Given the description of an element on the screen output the (x, y) to click on. 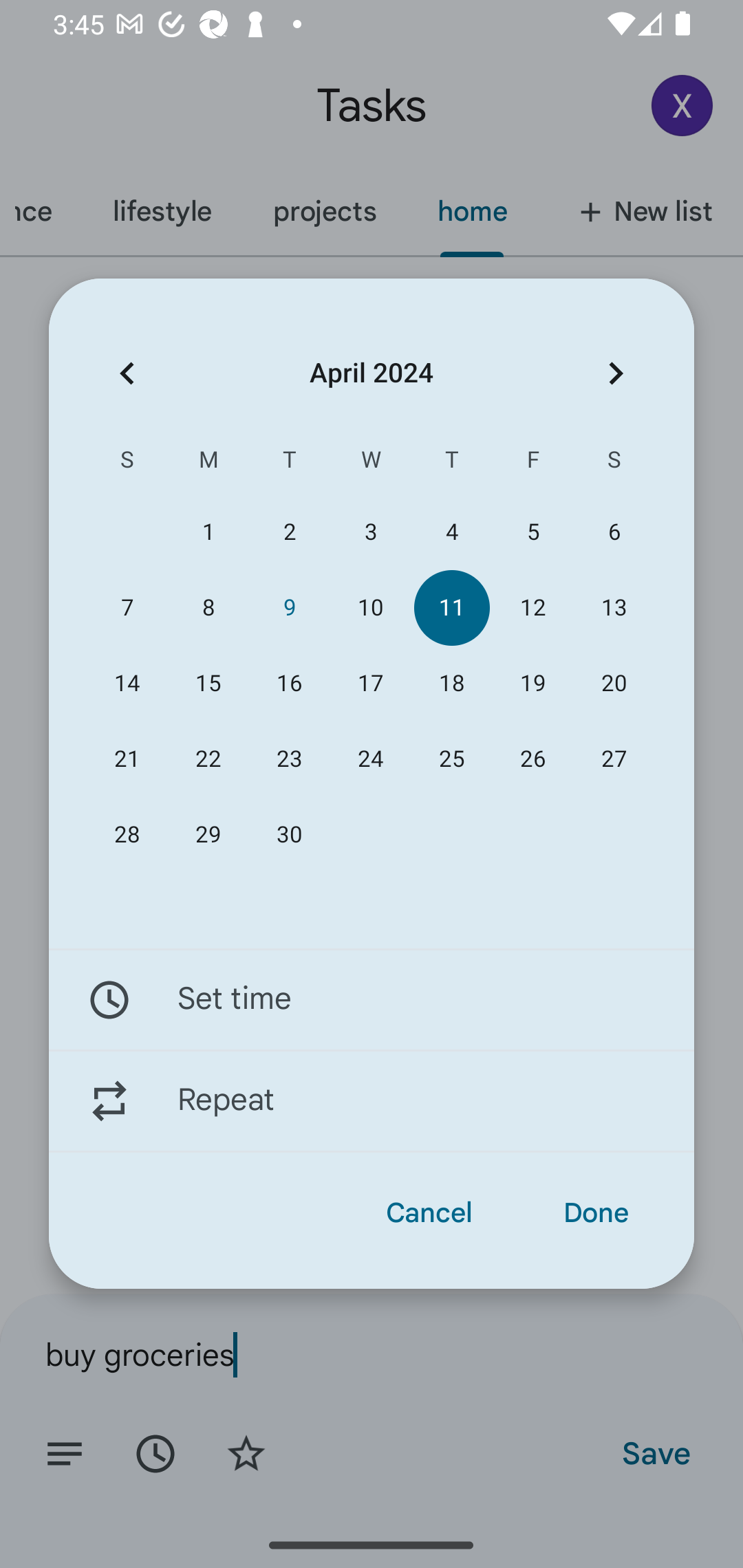
Previous month (126, 372)
Next month (615, 372)
1 01 April 2024 (207, 531)
2 02 April 2024 (288, 531)
3 03 April 2024 (370, 531)
4 04 April 2024 (451, 531)
5 05 April 2024 (532, 531)
6 06 April 2024 (613, 531)
7 07 April 2024 (126, 608)
8 08 April 2024 (207, 608)
9 09 April 2024 (288, 608)
10 10 April 2024 (370, 608)
11 11 April 2024 (451, 608)
12 12 April 2024 (532, 608)
13 13 April 2024 (613, 608)
14 14 April 2024 (126, 683)
15 15 April 2024 (207, 683)
16 16 April 2024 (288, 683)
17 17 April 2024 (370, 683)
18 18 April 2024 (451, 683)
19 19 April 2024 (532, 683)
20 20 April 2024 (613, 683)
21 21 April 2024 (126, 758)
22 22 April 2024 (207, 758)
23 23 April 2024 (288, 758)
24 24 April 2024 (370, 758)
25 25 April 2024 (451, 758)
26 26 April 2024 (532, 758)
27 27 April 2024 (613, 758)
28 28 April 2024 (126, 834)
29 29 April 2024 (207, 834)
30 30 April 2024 (288, 834)
Set time (371, 999)
Repeat (371, 1101)
Cancel (429, 1213)
Done (595, 1213)
